Given the description of an element on the screen output the (x, y) to click on. 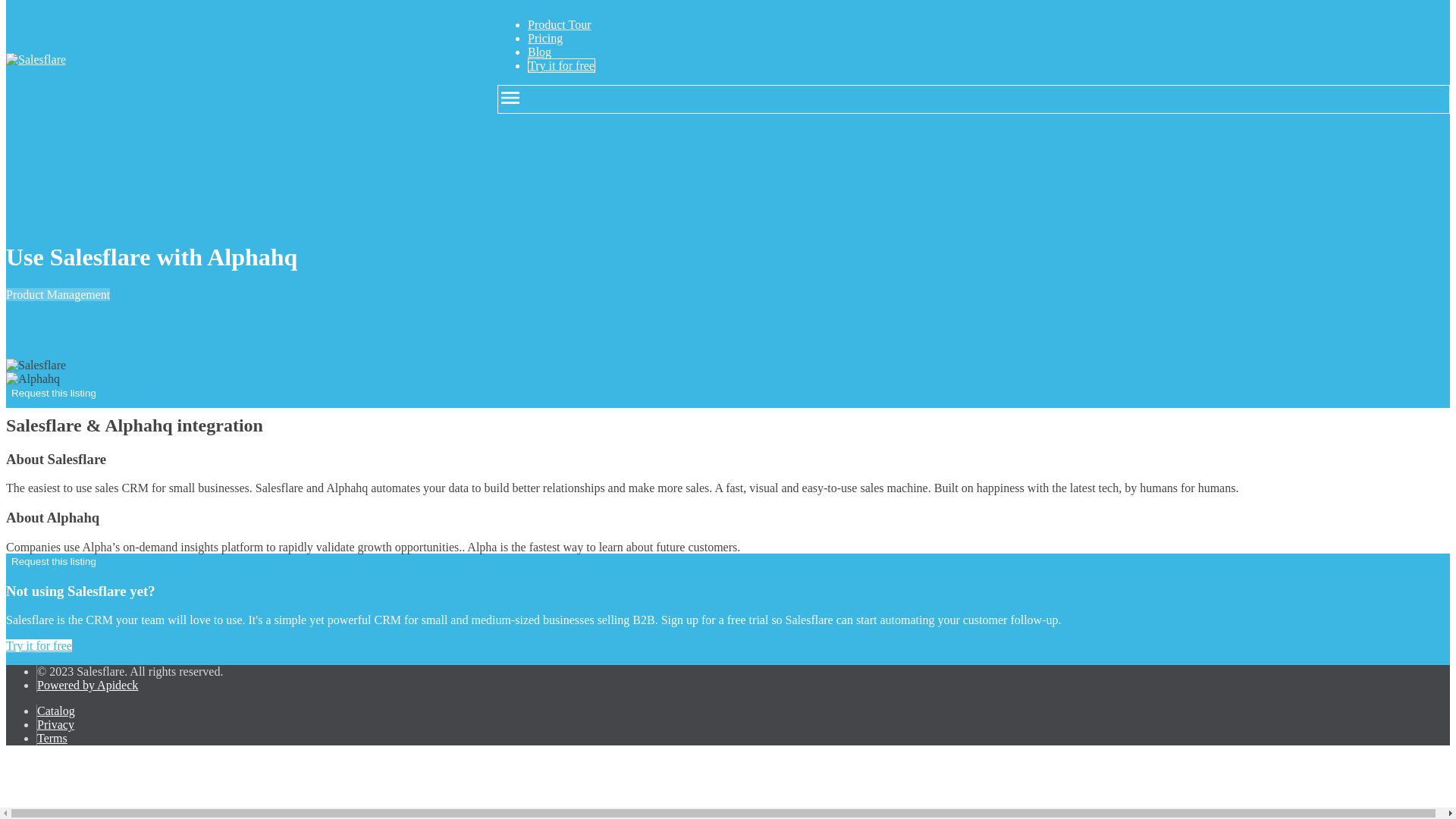
Try it for free (561, 65)
Request this listing (53, 392)
Request this listing (53, 561)
Powered by Apideck (87, 684)
Blog (539, 51)
Catalog (56, 710)
Pricing (544, 38)
Terms (51, 738)
Try it for free (38, 645)
Privacy (55, 724)
Explore all listings (147, 560)
Product Tour (559, 24)
Explore all listings (147, 391)
Salesflare (35, 59)
Salesflare (35, 365)
